Given the description of an element on the screen output the (x, y) to click on. 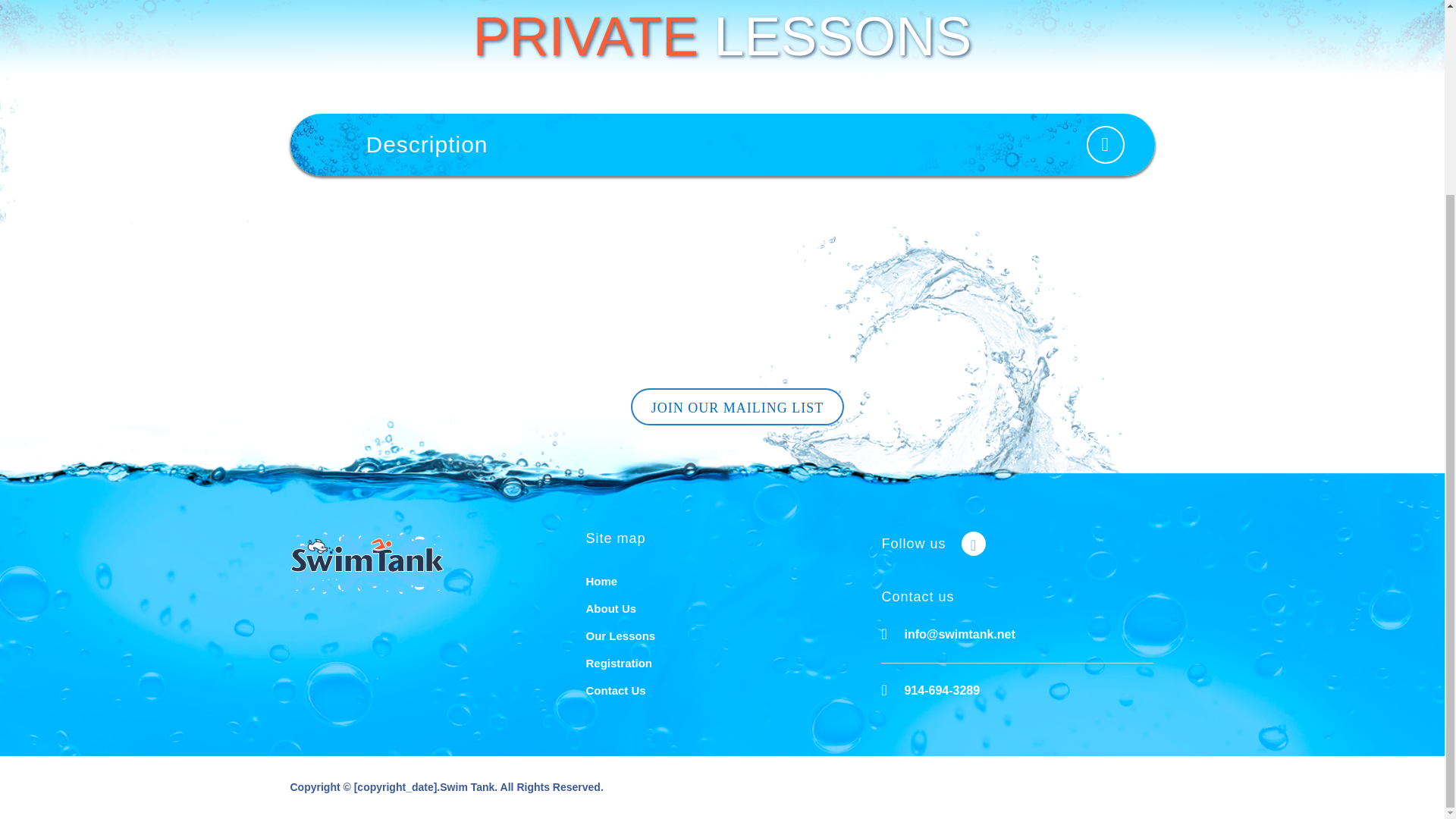
914-694-3289 (941, 689)
Contact Us (615, 689)
JOIN OUR MAILING LIST (737, 406)
Our Lessons (620, 635)
About Us (610, 608)
Registration (618, 662)
Description (721, 144)
Home (601, 581)
